Given the description of an element on the screen output the (x, y) to click on. 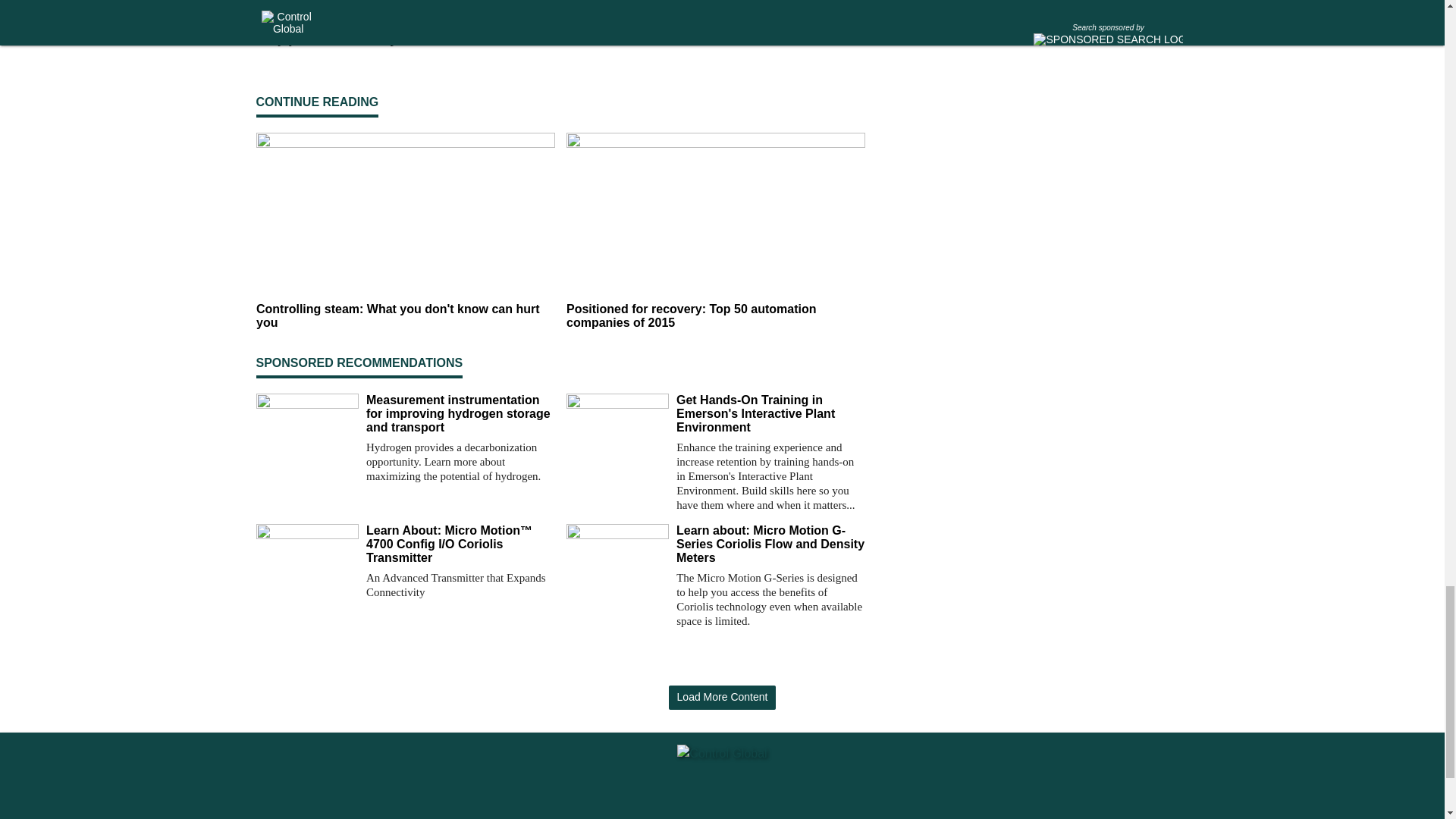
CLICK HERE (505, 38)
Positioned for recovery: Top 50 automation companies of 2015 (715, 316)
Controlling steam: What you don't know can hurt you (405, 316)
